Given the description of an element on the screen output the (x, y) to click on. 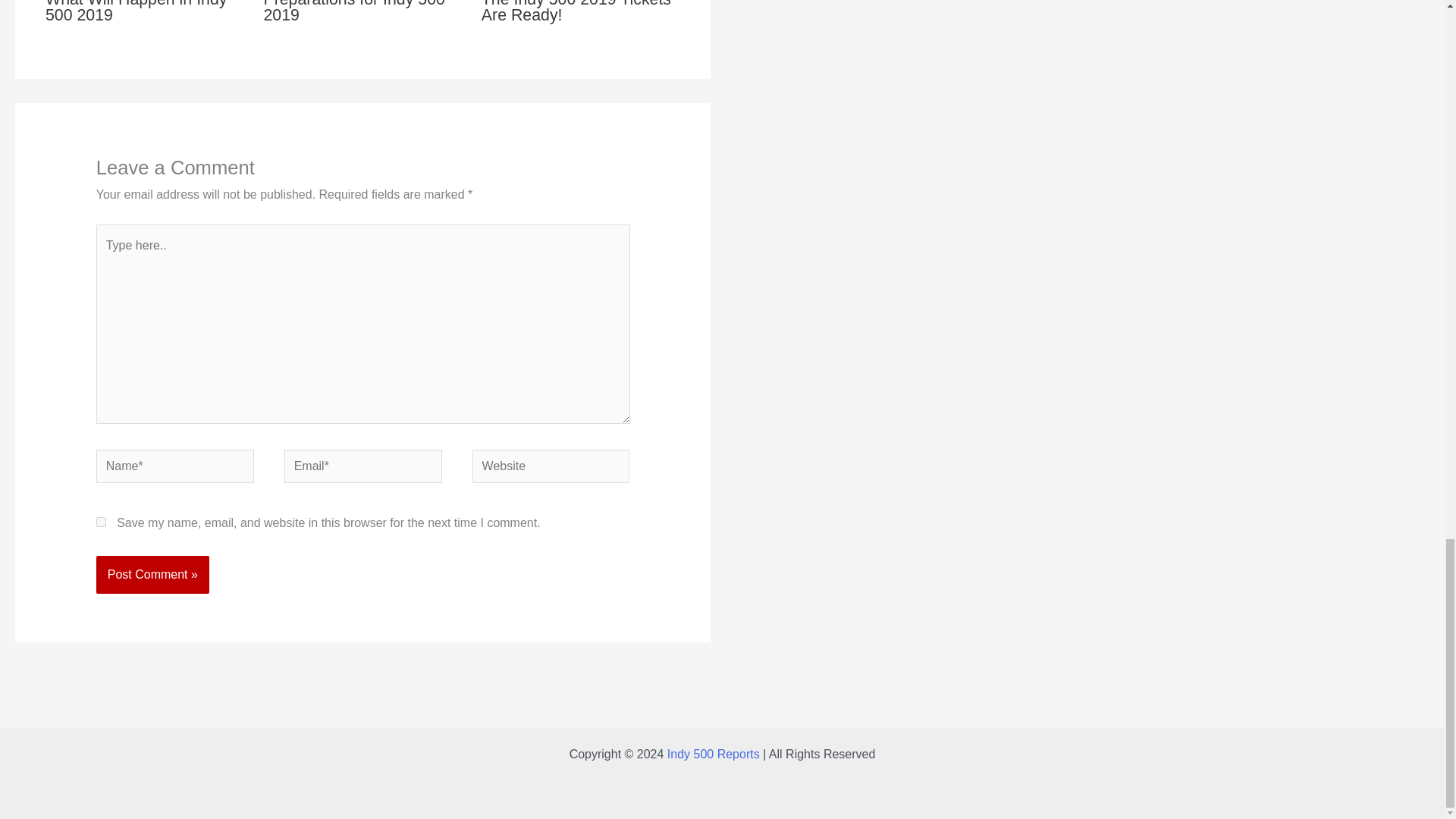
What Will Happen in Indy 500 2019 (136, 12)
yes (101, 521)
The Indy 500 2019 Tickets Are Ready! (576, 12)
Indy 500 Reports (713, 753)
Preparations for Indy 500 2019 (354, 12)
